Given the description of an element on the screen output the (x, y) to click on. 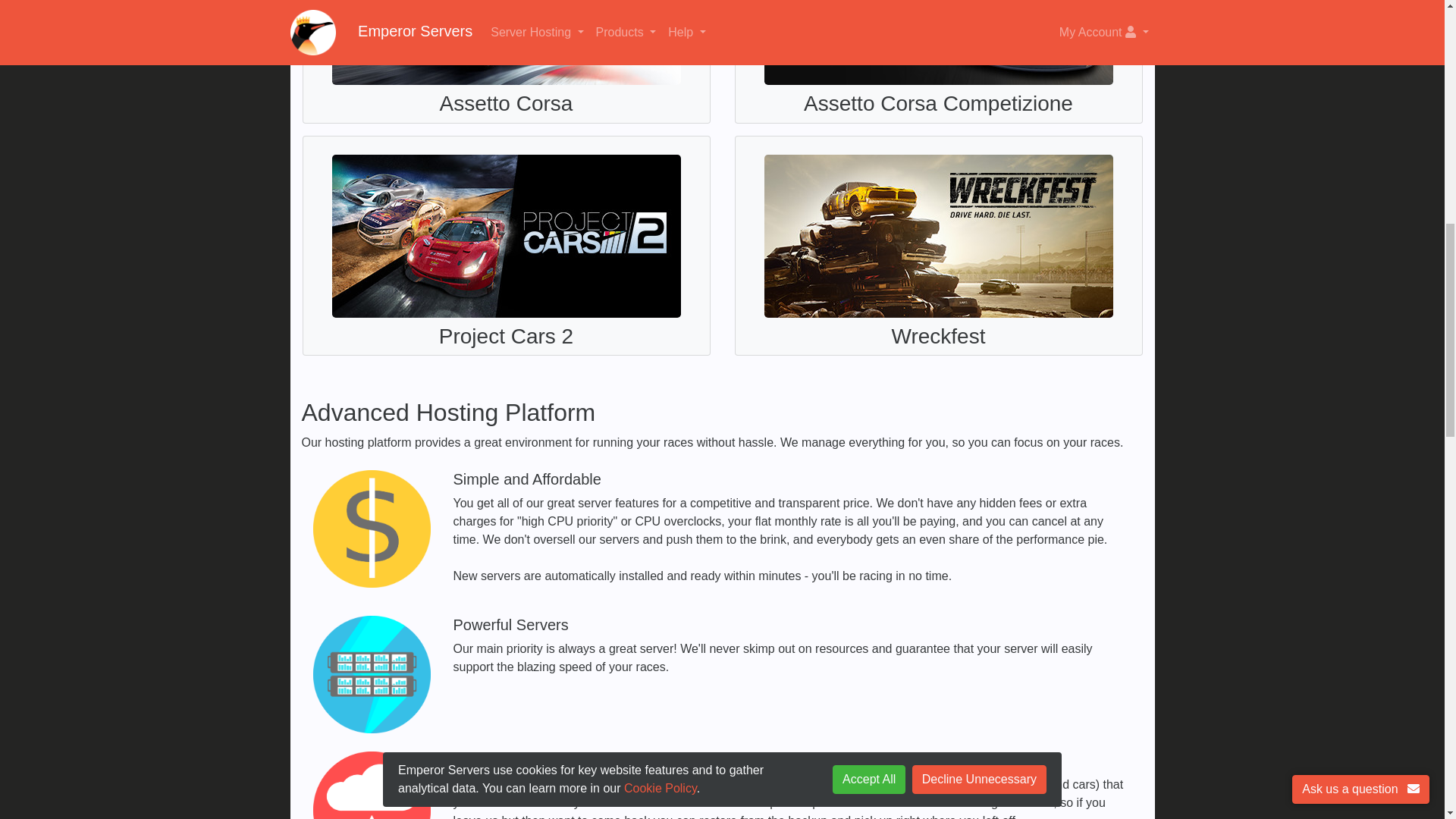
Assetto Corsa (505, 64)
Project Cars 2 (505, 245)
Wreckfest (938, 245)
Assetto Corsa Competizione (938, 64)
